Given the description of an element on the screen output the (x, y) to click on. 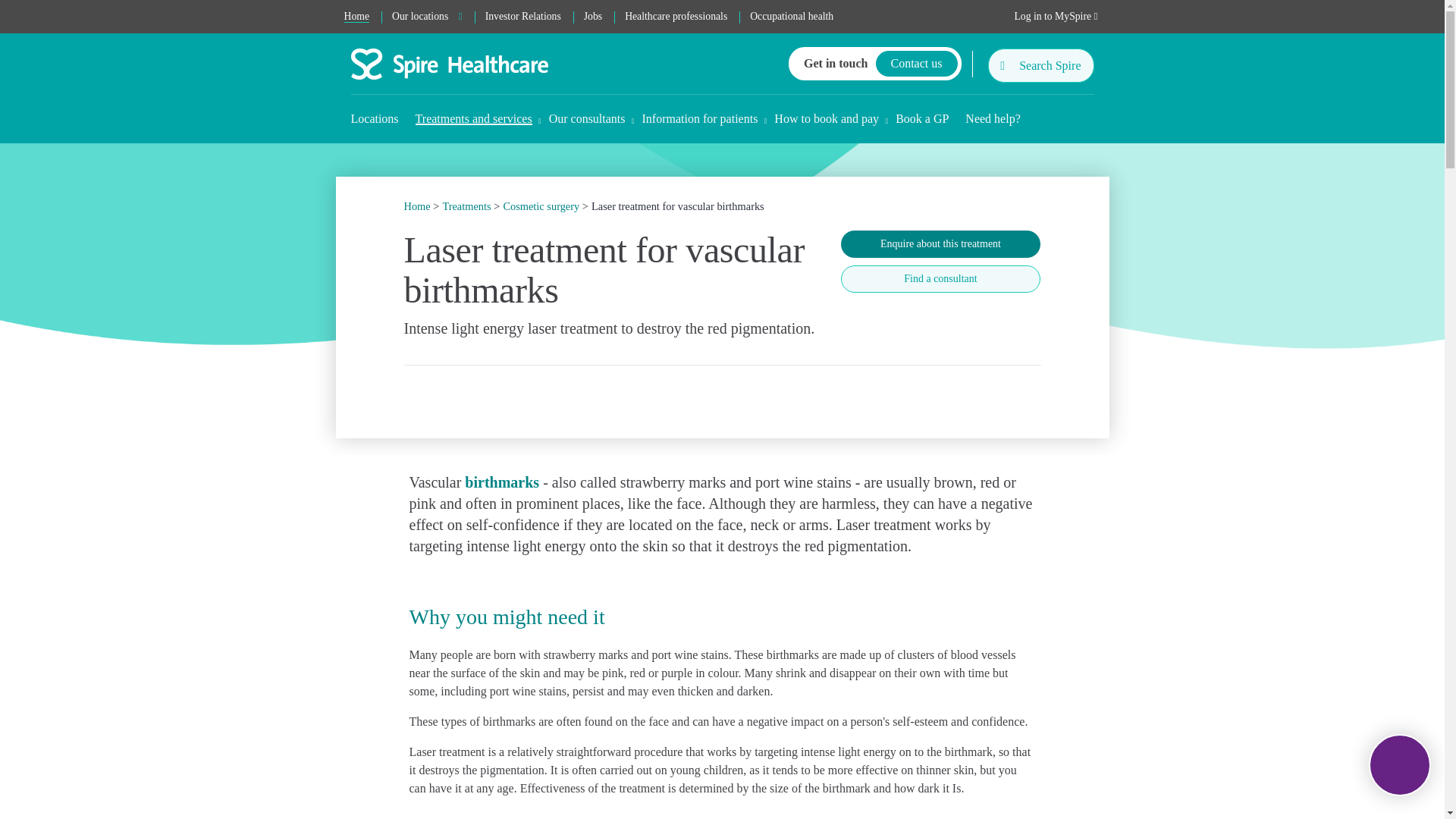
Occupational health (791, 16)
Healthcare professionals (675, 16)
Birthmarks (501, 482)
Our locations (427, 16)
Investor Relations (523, 16)
Home (355, 16)
Log in to MySpire (1055, 16)
Jobs (592, 16)
